Given the description of an element on the screen output the (x, y) to click on. 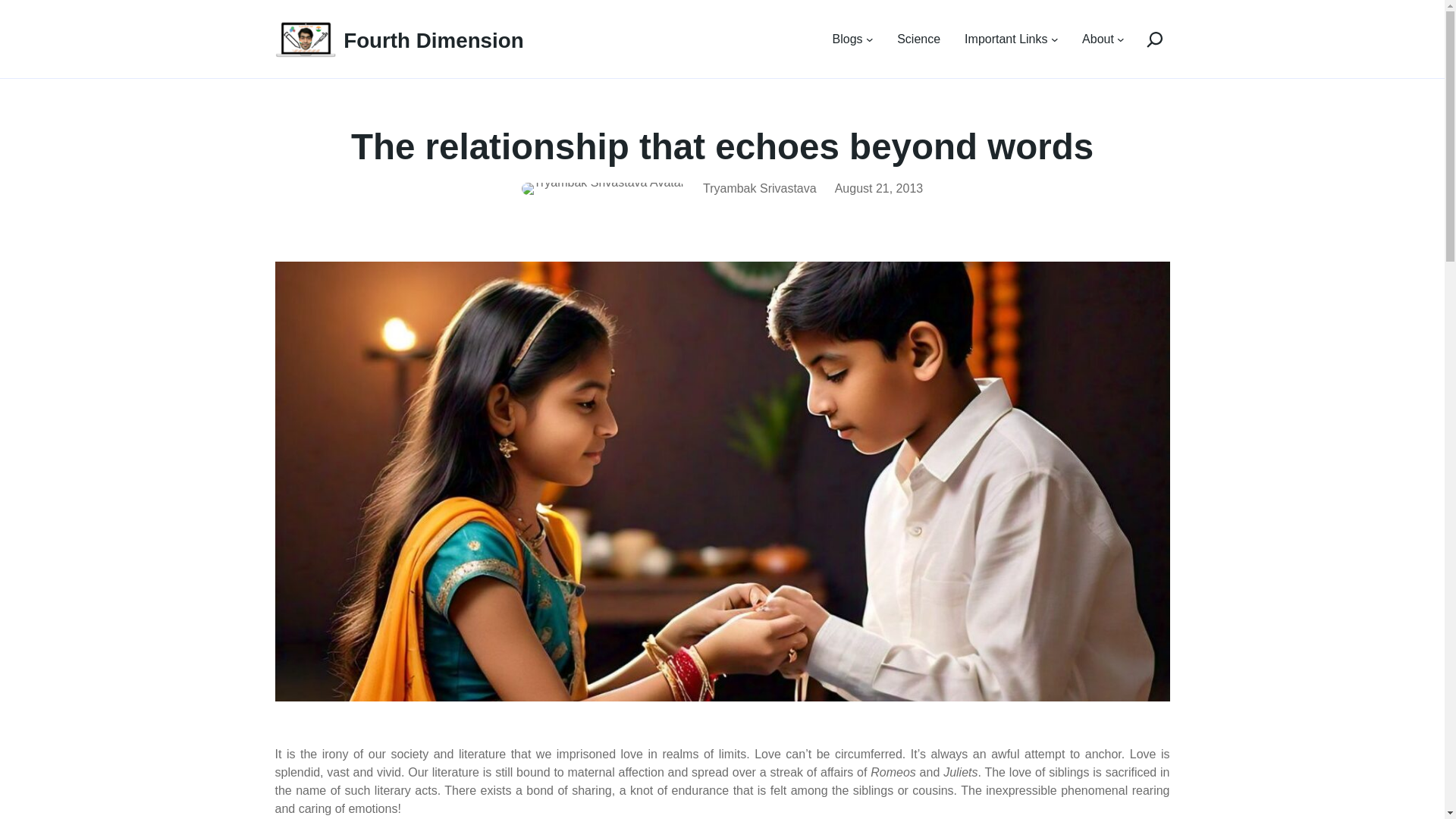
Fourth Dimension (432, 40)
